Given the description of an element on the screen output the (x, y) to click on. 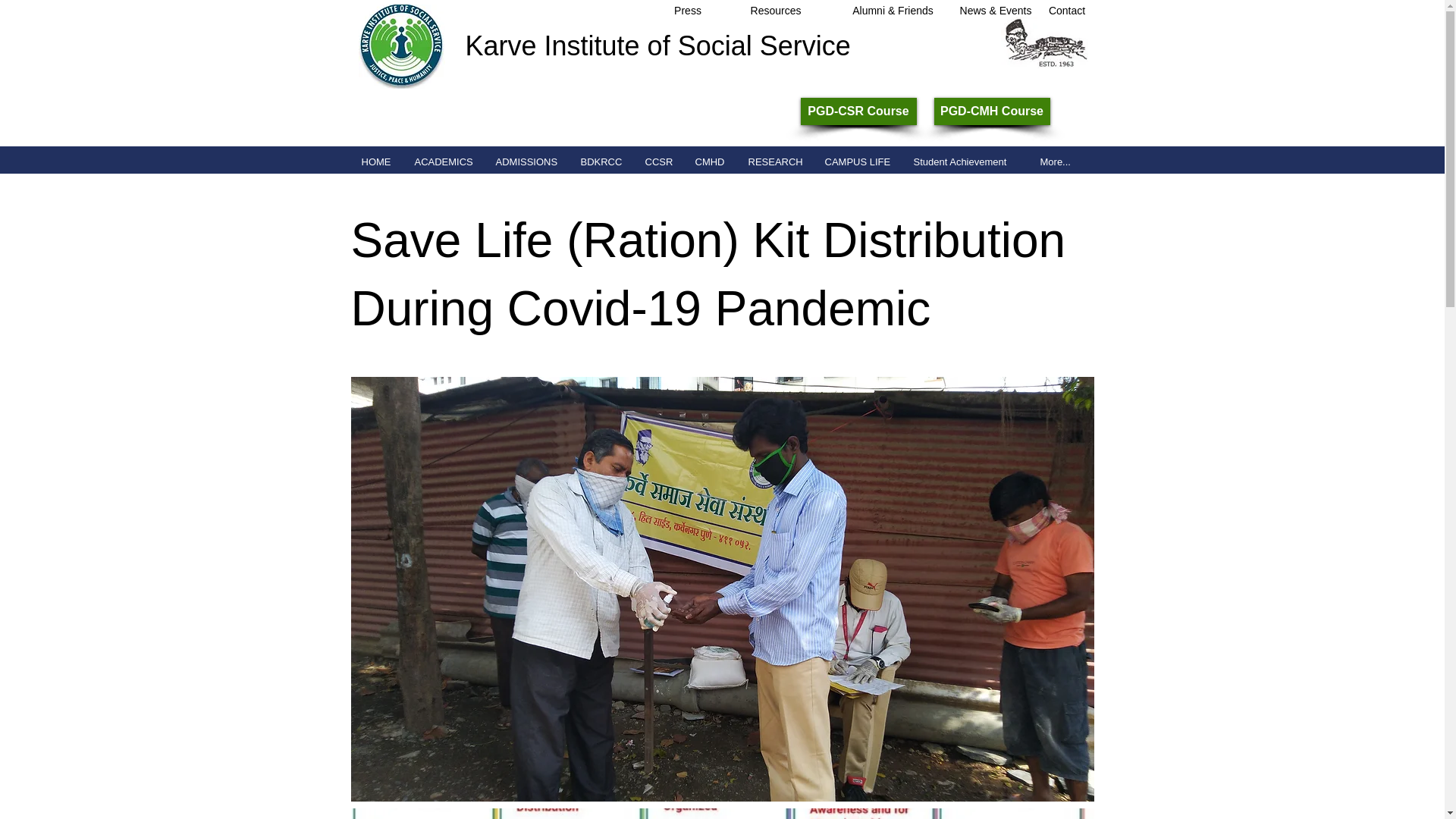
PGD-CMH Course (991, 111)
PGD-CSR Course (858, 111)
CAMPUS LIFE (856, 161)
HOME (375, 161)
Press (687, 10)
ACADEMICS (442, 161)
ADMISSIONS (526, 161)
Contact (1066, 10)
CMHD (708, 161)
RESEARCH (773, 161)
Resources (776, 10)
CCSR (656, 161)
BDKRCC (601, 161)
